Given the description of an element on the screen output the (x, y) to click on. 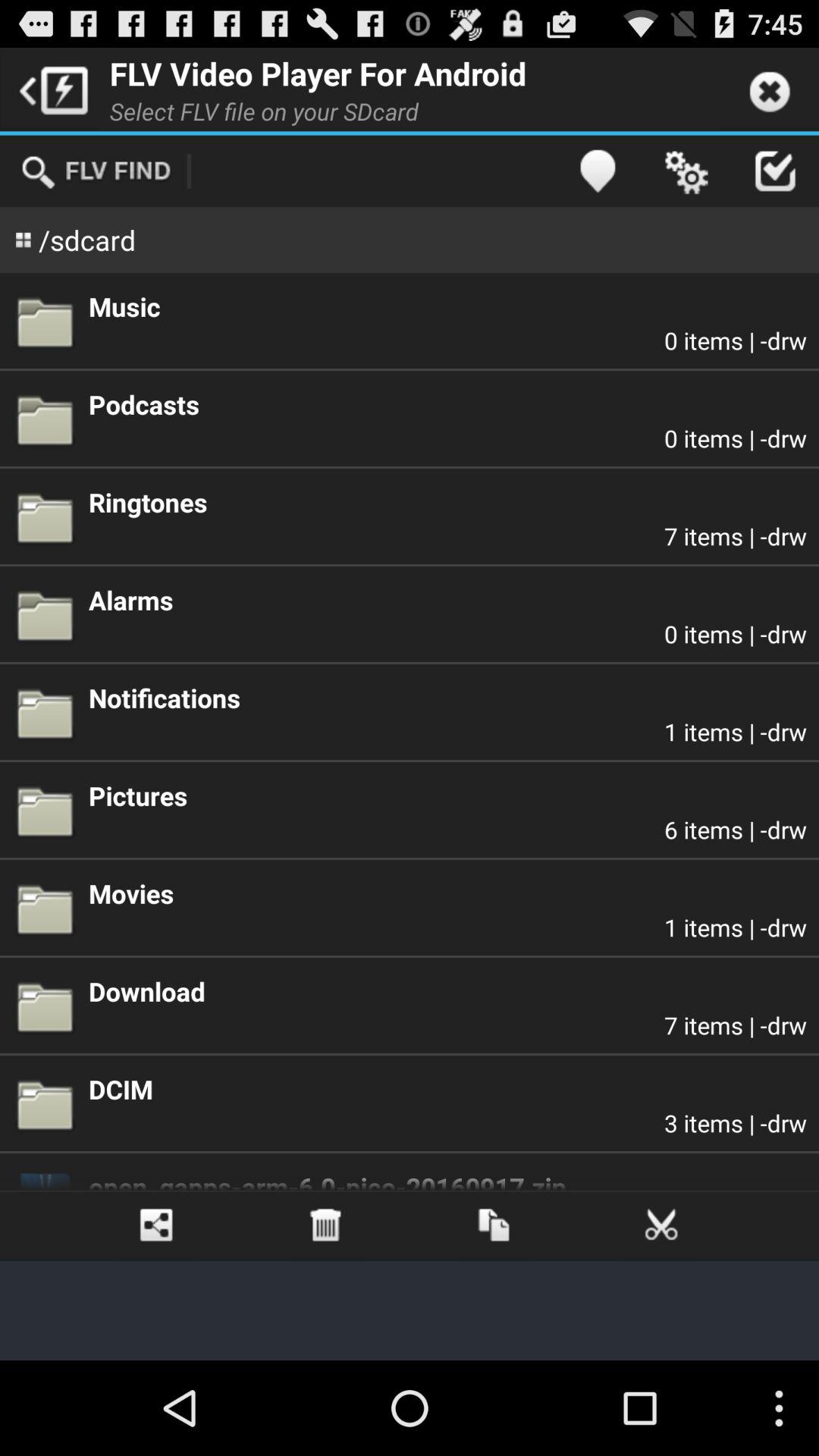
flip to the alarms app (447, 599)
